Given the description of an element on the screen output the (x, y) to click on. 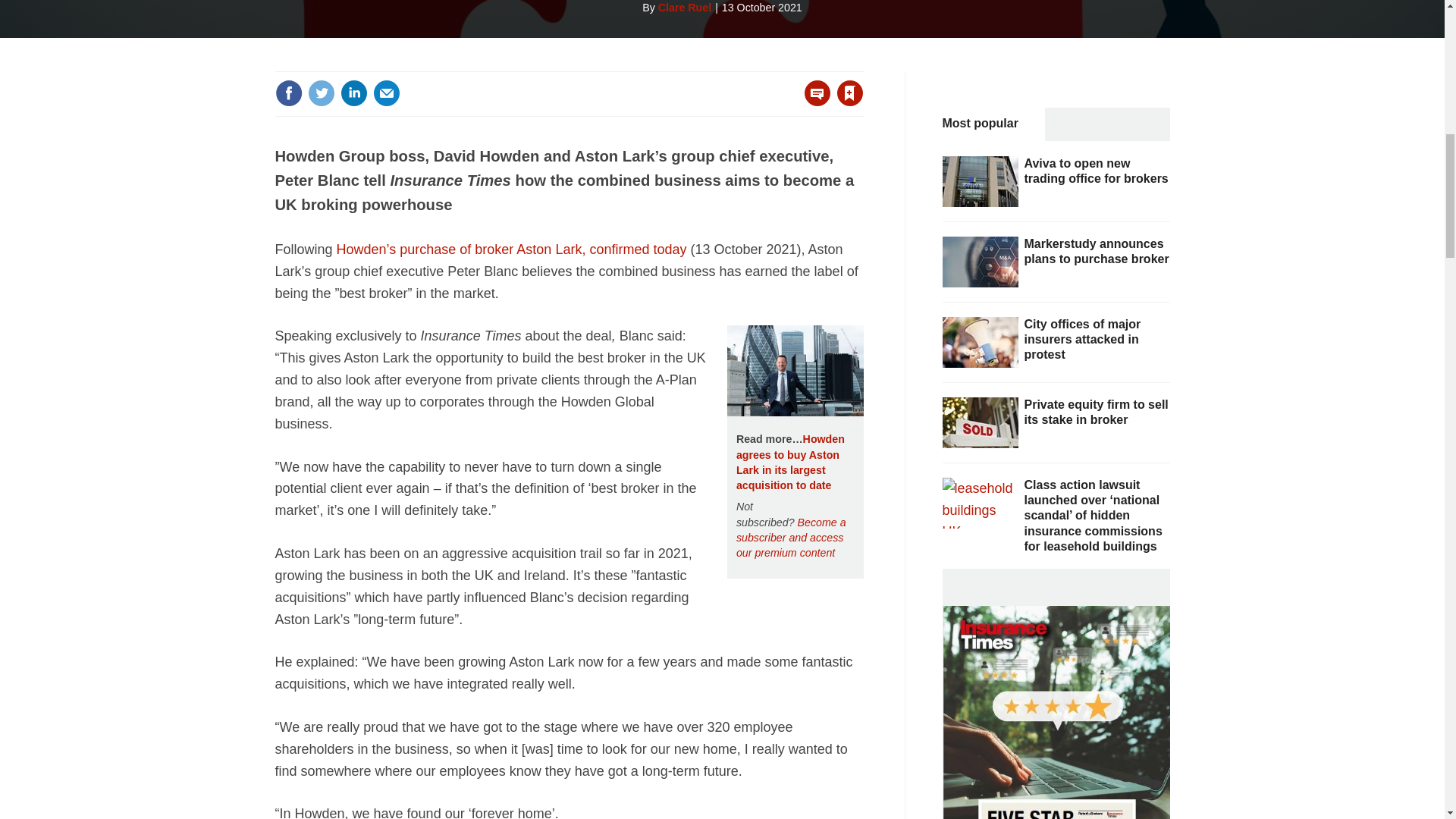
No comments (812, 102)
Share this on Facebook (288, 93)
Email this article (386, 93)
Share this on Twitter (320, 93)
Share this on Linked in (352, 93)
